Given the description of an element on the screen output the (x, y) to click on. 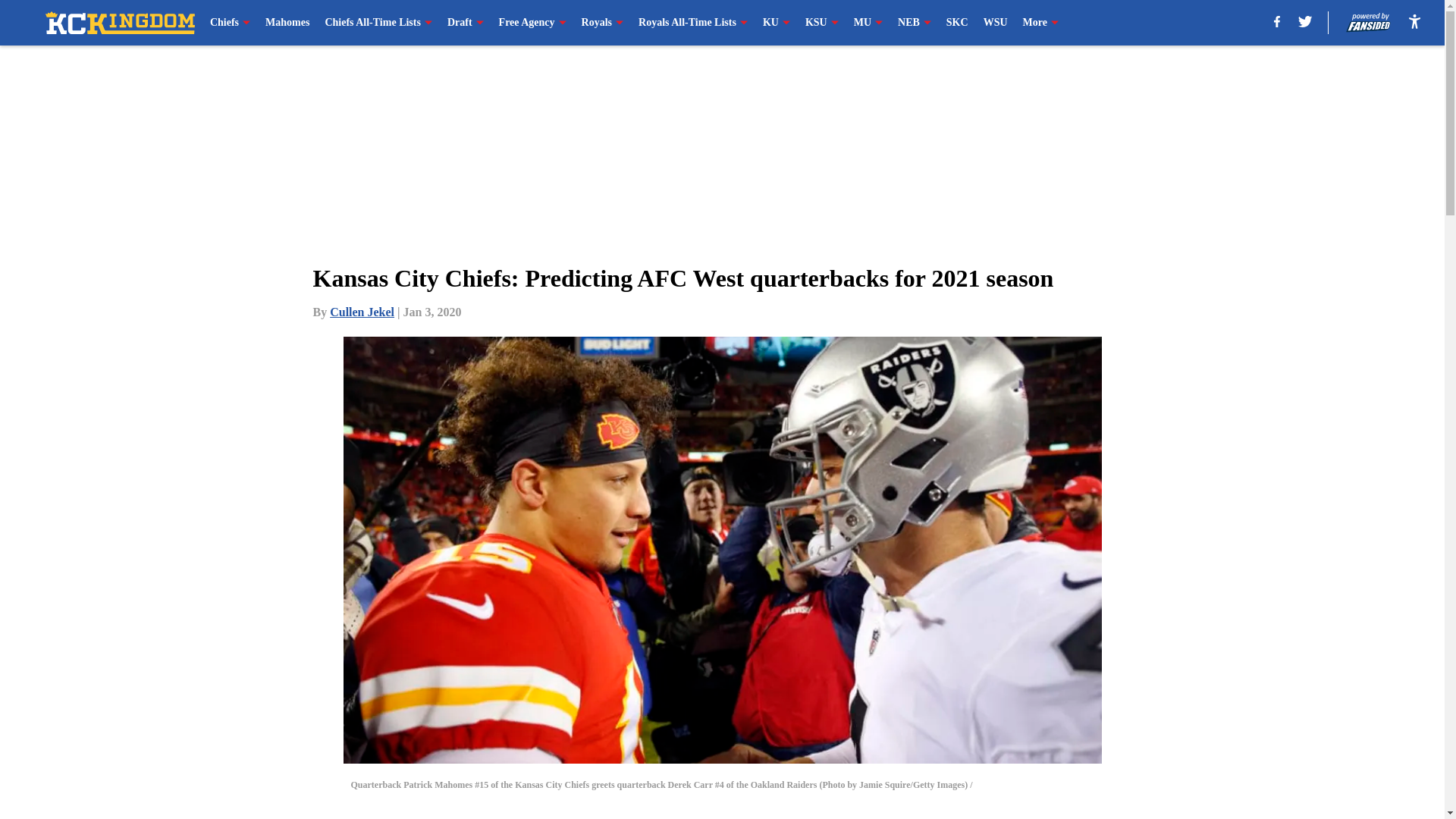
Mahomes (286, 22)
